Given the description of an element on the screen output the (x, y) to click on. 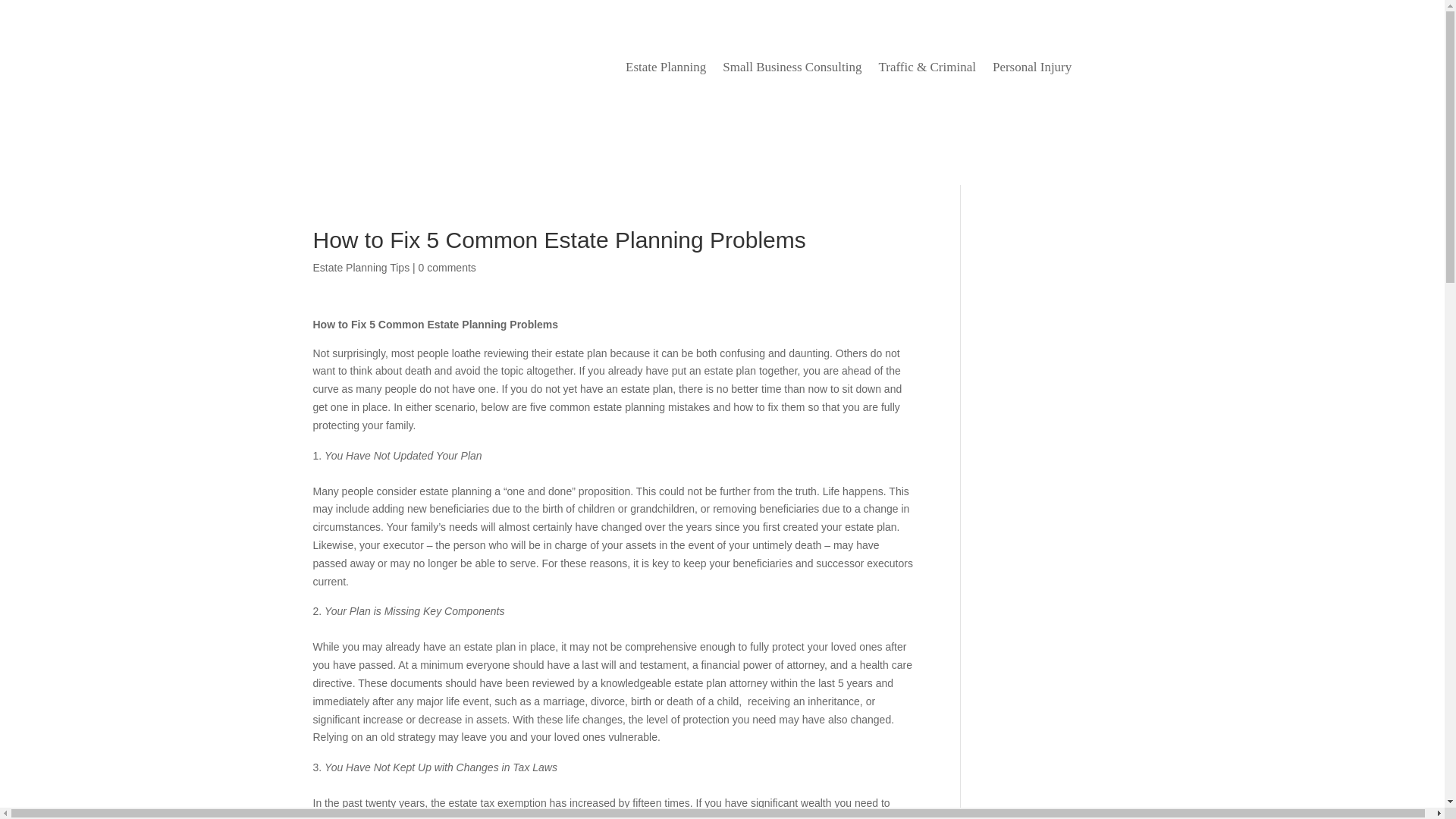
Personal Injury (1031, 70)
Small Business Consulting (791, 70)
Estate Planning Tips (361, 267)
0 comments (447, 267)
Estate Planning (666, 70)
